Given the description of an element on the screen output the (x, y) to click on. 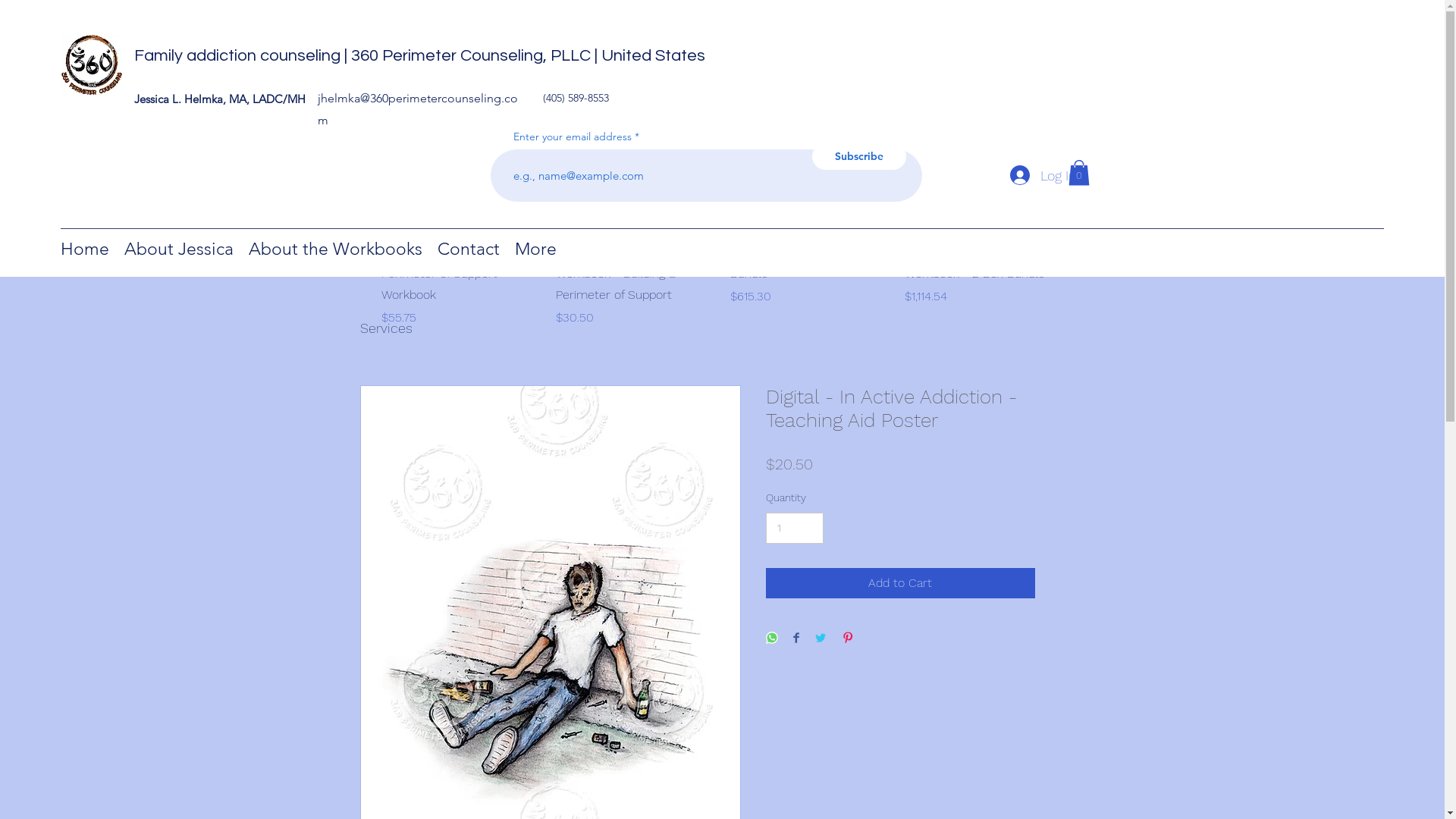
Addiction Recovery - 1 Box Bundle
Price
$615.30 Element type: text (808, 283)
Add to Cart Element type: text (900, 582)
20% Savings Element type: text (983, 149)
About Jessica Element type: text (178, 248)
Addiction Recovery Workbook - 2 Box Bundle
Price
$1,114.54 Element type: text (983, 283)
Services Element type: text (385, 327)
About the Workbooks Element type: text (335, 248)
jhelmka@360perimetercounseling.com Element type: text (417, 109)
Subscribe Element type: text (858, 156)
0 Element type: text (1077, 172)
15% Savings Element type: text (808, 149)
Contact Element type: text (468, 248)
FAMILY/PROFESSIONAL BUNDLE Element type: text (459, 149)
Log In Element type: text (1042, 175)
Home Element type: text (84, 248)
